Given the description of an element on the screen output the (x, y) to click on. 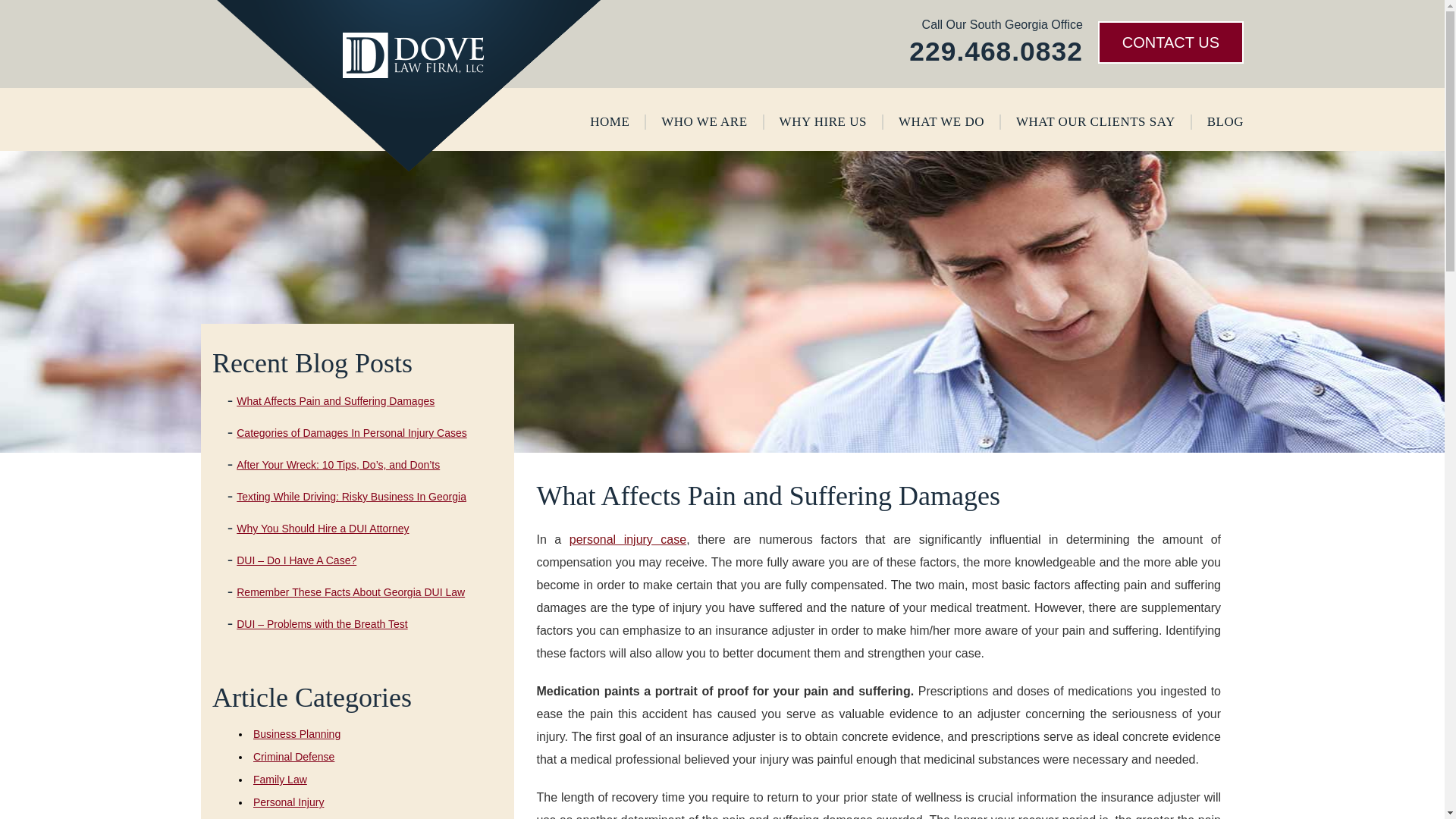
What Affects Pain and Suffering Damages (334, 400)
Law Firm Marketing (636, 794)
Business Planning (296, 734)
Personal Injury (288, 802)
Why You Should Hire a DUI Attorney (322, 528)
Categories of Damages In Personal Injury Cases (350, 432)
Remember These Facts About Georgia DUI Law (349, 592)
CONTACT US (1170, 42)
WHY HIRE US (822, 121)
Family Law (280, 779)
